Given the description of an element on the screen output the (x, y) to click on. 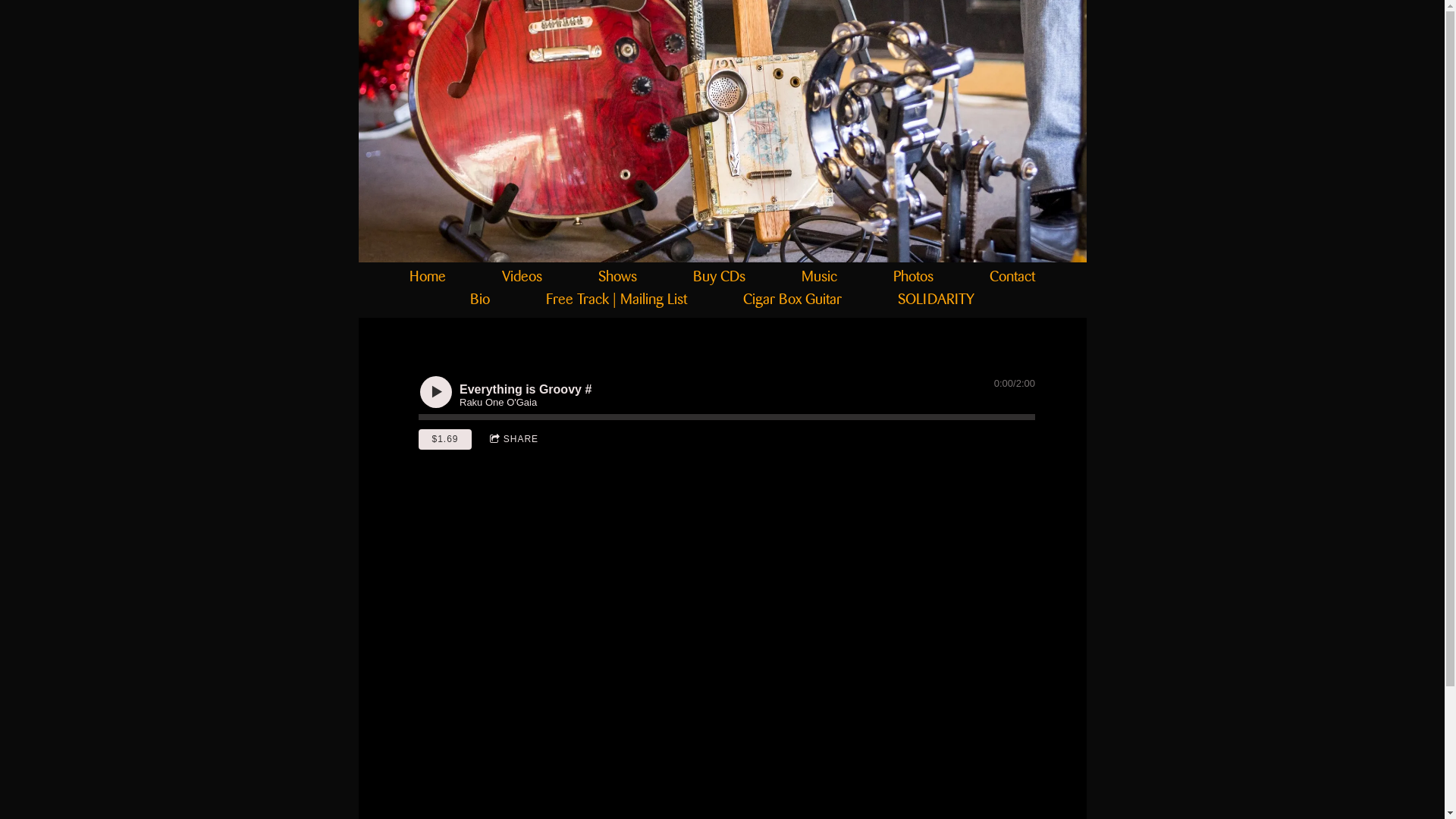
Play Element type: hover (435, 391)
Home Element type: text (427, 273)
Buy CDs Element type: text (719, 273)
Bio Element type: text (479, 296)
Cigar Box Guitar Element type: text (792, 296)
SHARE Element type: text (513, 438)
Free Track | Mailing List Element type: text (616, 296)
$1.69 Element type: text (444, 439)
Contact Element type: text (1012, 273)
Photos Element type: text (913, 273)
Videos Element type: text (522, 273)
Shows Element type: text (617, 273)
SOLIDARITY Element type: text (935, 296)
Music Element type: text (819, 273)
